Given the description of an element on the screen output the (x, y) to click on. 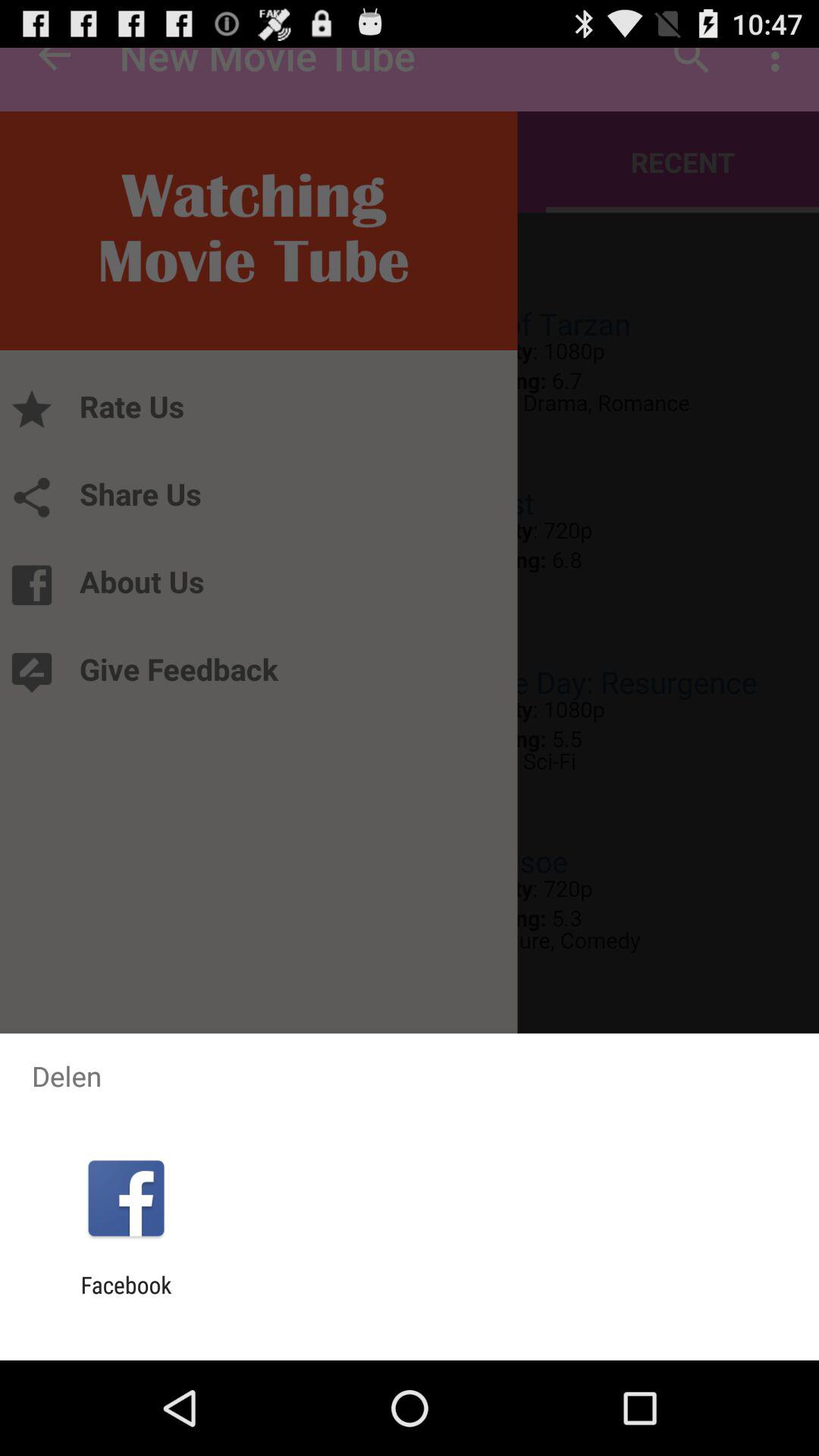
turn off app above facebook item (126, 1198)
